Given the description of an element on the screen output the (x, y) to click on. 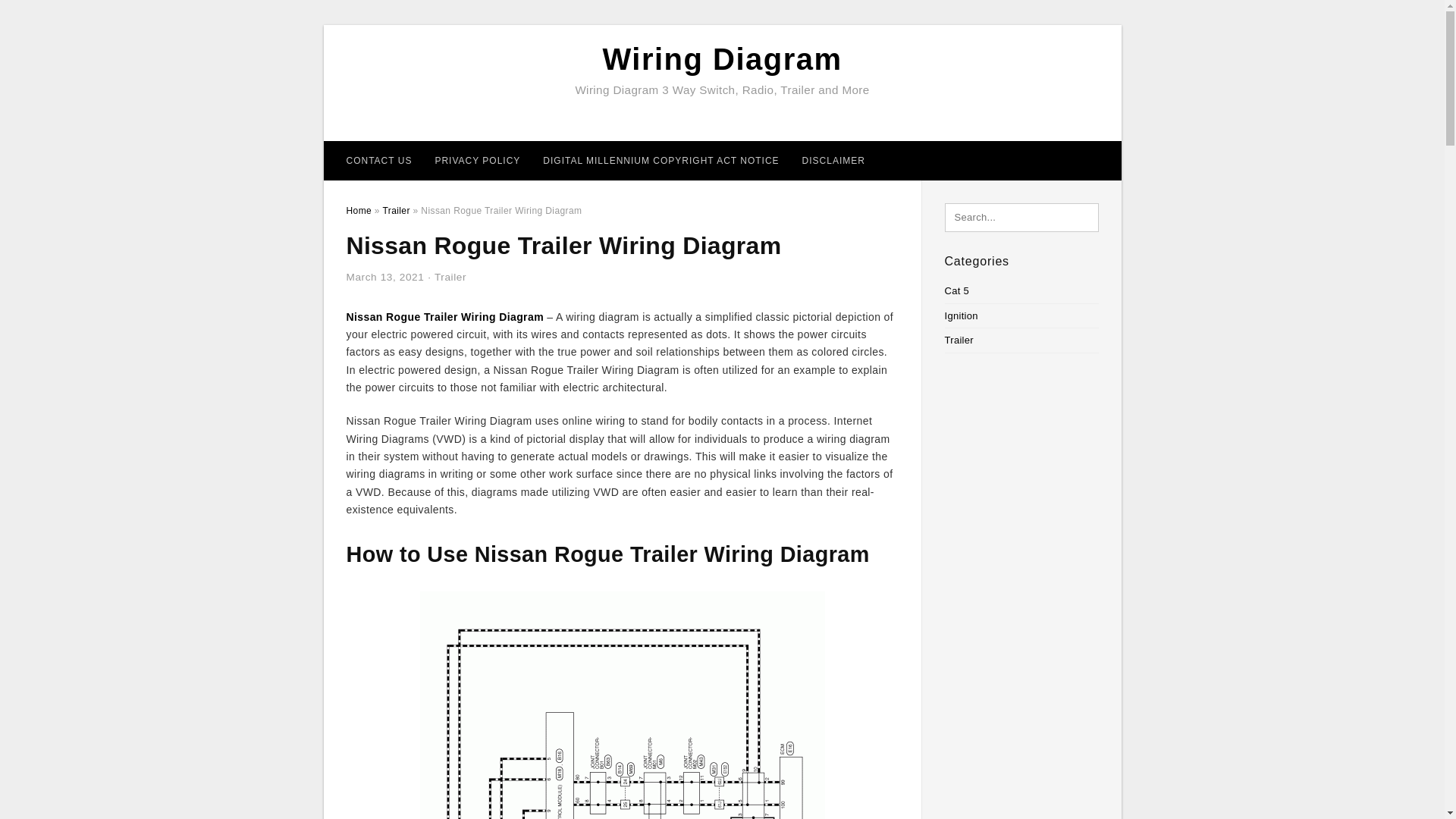
Home (358, 210)
Ignition (961, 315)
PRIVACY POLICY (477, 160)
DIGITAL MILLENNIUM COPYRIGHT ACT NOTICE (660, 160)
CONTACT US (378, 160)
Trailer (449, 276)
DISCLAIMER (833, 160)
Nissan Rogue Trailer Wiring Diagram (444, 316)
Wiring Diagram (721, 59)
Cat 5 (956, 290)
Trailer (395, 210)
Search (43, 15)
